Given the description of an element on the screen output the (x, y) to click on. 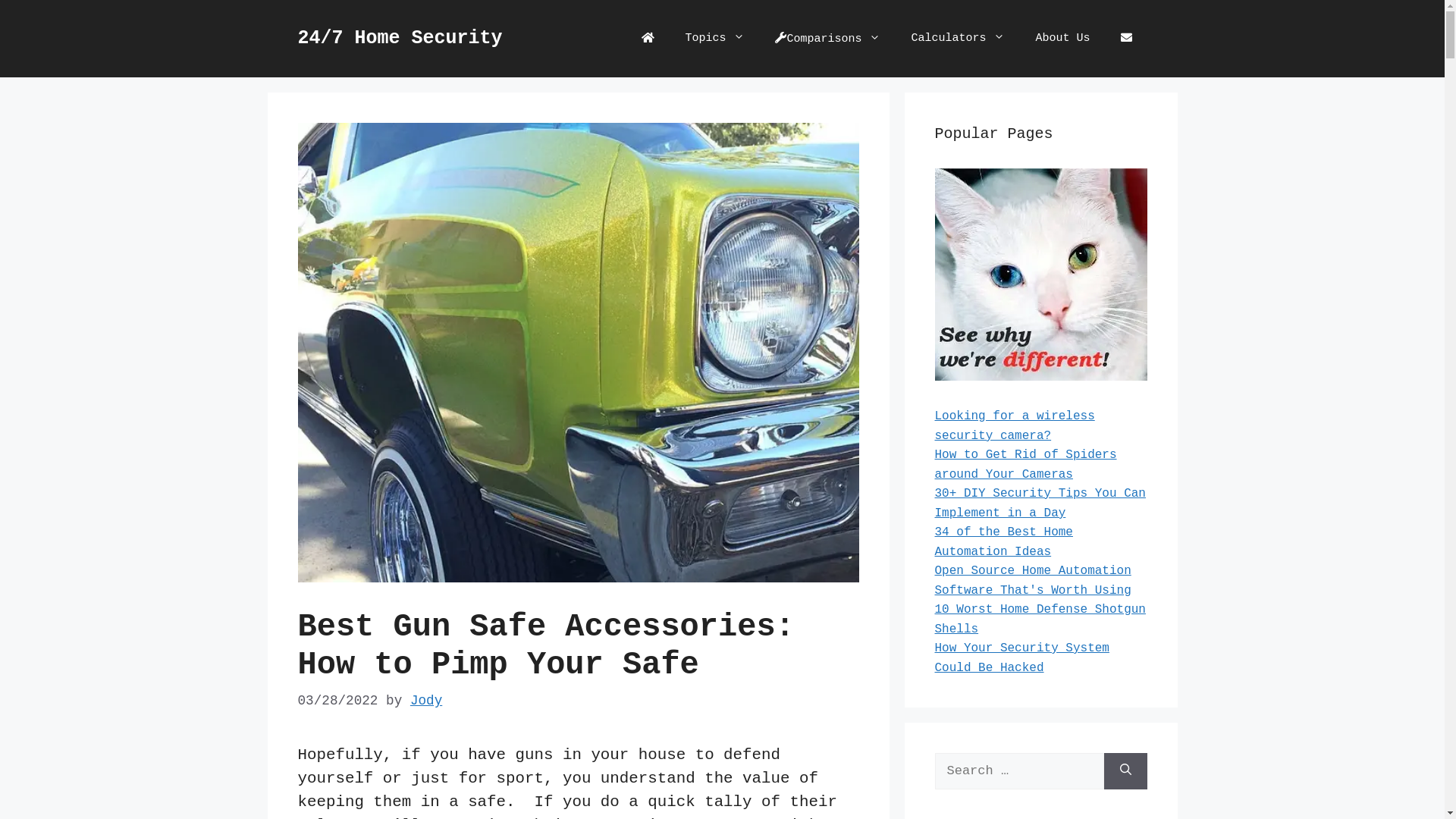
Search for: Element type: hover (1018, 771)
30+ DIY Security Tips You Can Implement in a Day Element type: text (1039, 503)
Looking for a wireless security camera? Element type: text (1014, 425)
Topics Element type: text (714, 38)
About Us Element type: text (1061, 38)
Jody Element type: text (426, 700)
Open Source Home Automation Software That's Worth Using Element type: text (1032, 580)
34 of the Best Home Automation Ideas Element type: text (1003, 541)
Comparisons Element type: text (827, 38)
10 Worst Home Defense Shotgun Shells Element type: text (1039, 619)
How Your Security System Could Be Hacked Element type: text (1021, 657)
Calculators Element type: text (957, 38)
How to Get Rid of Spiders around Your Cameras Element type: text (1025, 464)
24/7 Home Security Element type: text (399, 38)
